Given the description of an element on the screen output the (x, y) to click on. 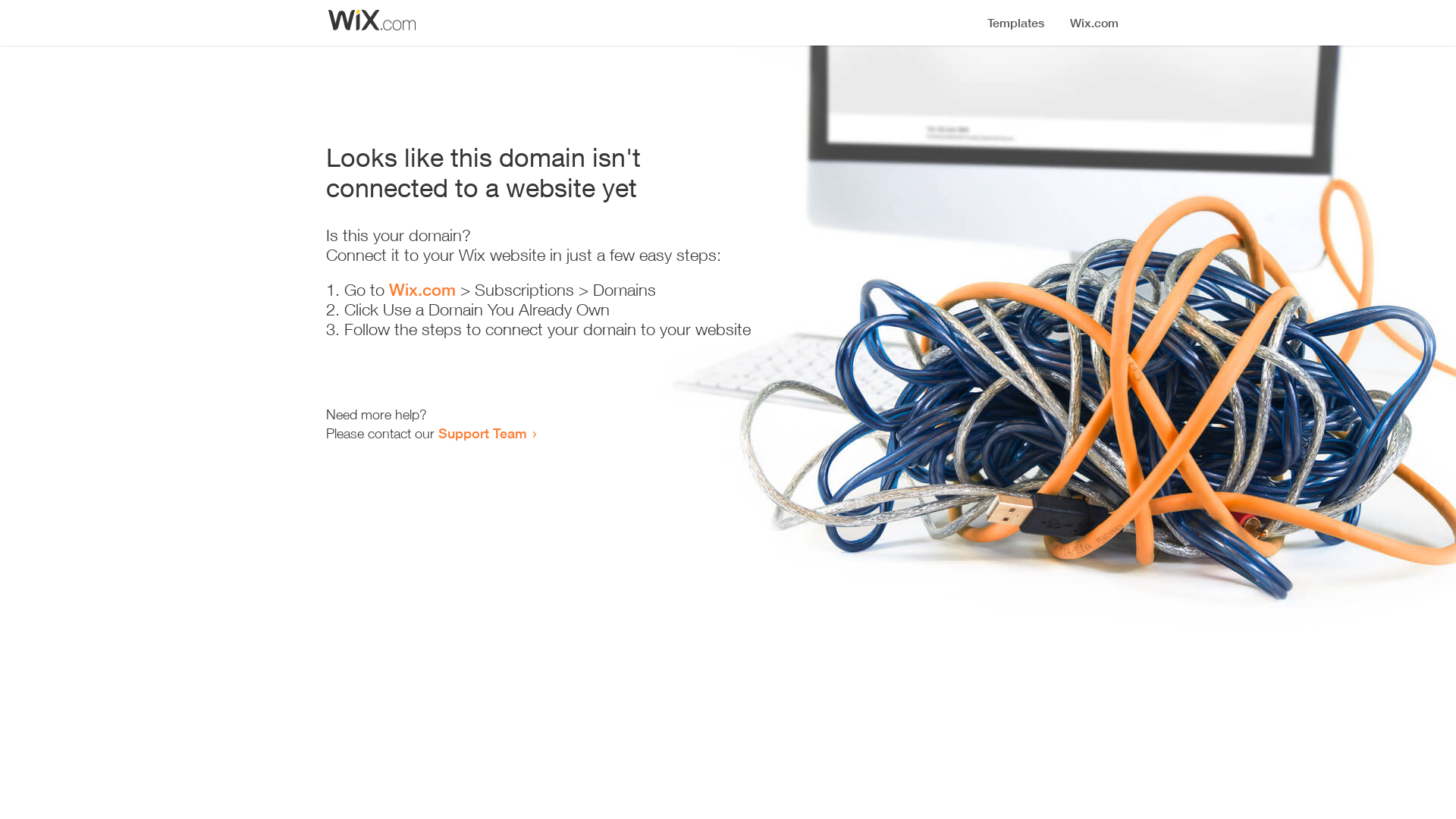
Wix.com Element type: text (422, 289)
Support Team Element type: text (482, 432)
